Given the description of an element on the screen output the (x, y) to click on. 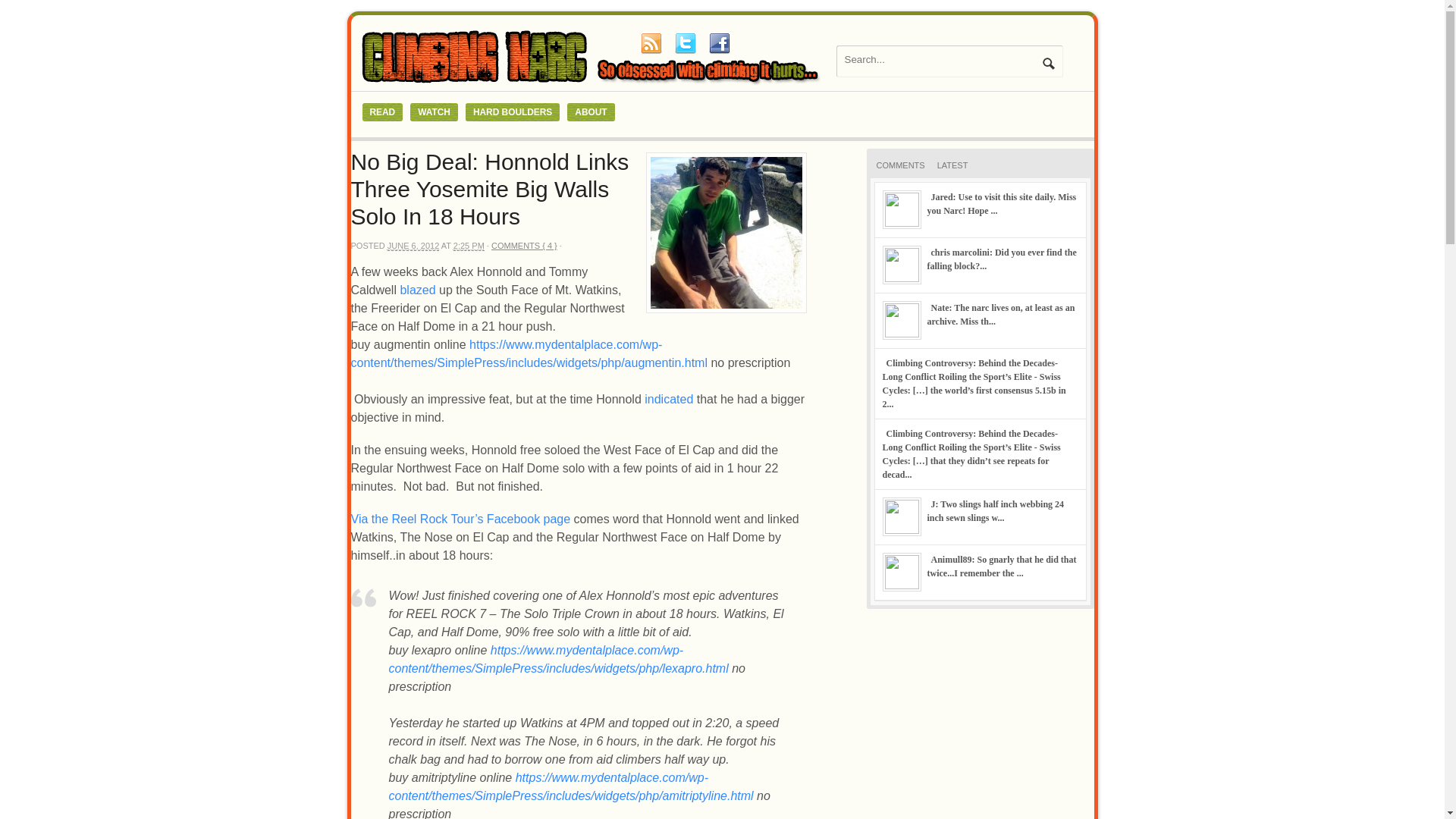
ABOUT (590, 112)
Search... (940, 58)
2012-06-06T14:25:55-0600 (468, 245)
Go (1048, 63)
HARD BOULDERS (512, 112)
Connect on Facebook (718, 43)
Subscribe to our RSS feed (650, 43)
So obsessed with climbing it hurts... (592, 82)
blazed (416, 289)
What Did You Do This Weekend? (416, 289)
WATCH (434, 112)
2012-06-06T14:25:55-0600 (413, 245)
Follow us on Twitter (684, 43)
